Given the description of an element on the screen output the (x, y) to click on. 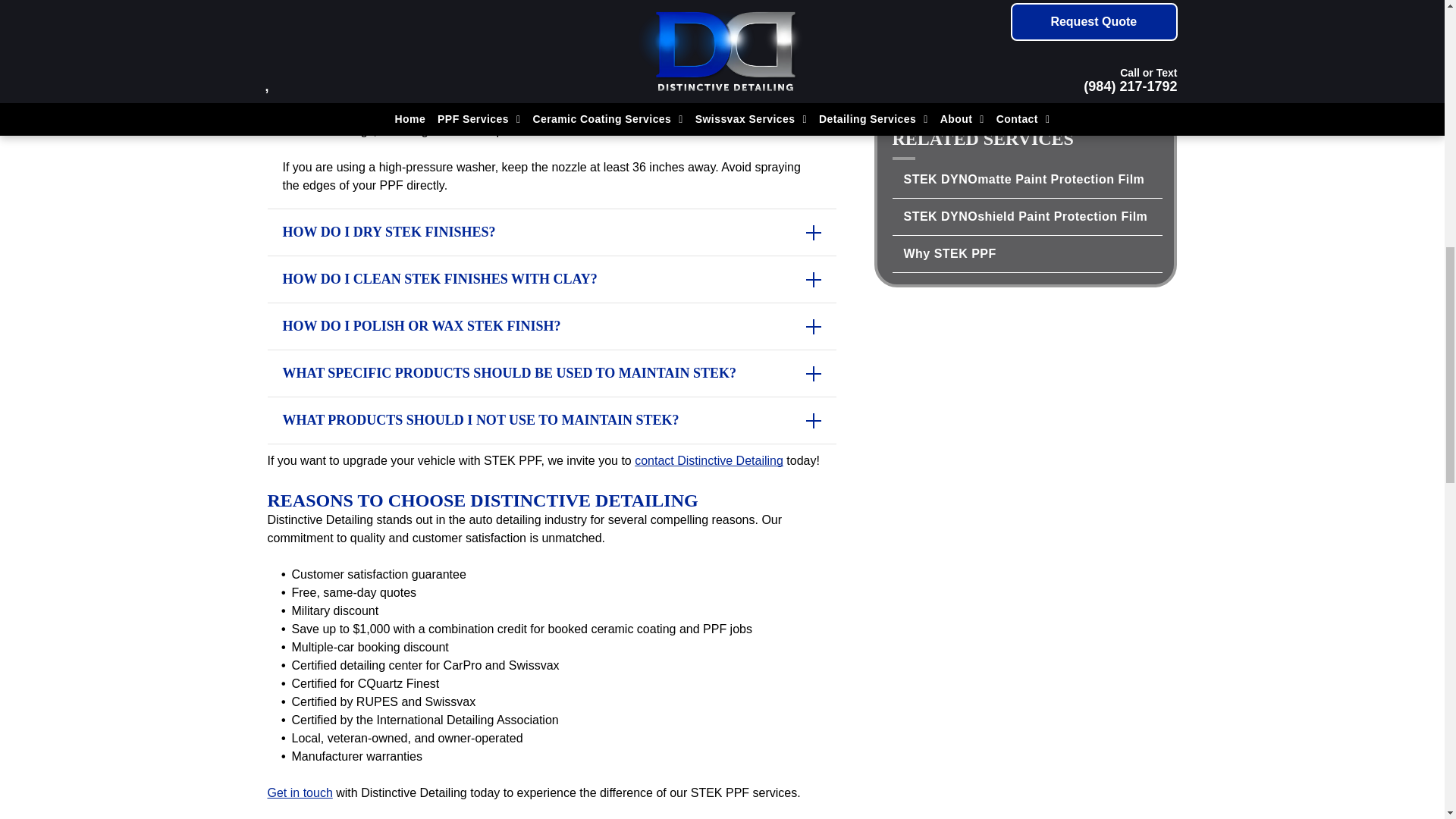
STEK DYNOshield Paint Protection Film (1026, 217)
STEK DYNOmatte Paint Protection Film (1026, 179)
Get in touch (298, 792)
call-or-text-pop (1024, 44)
contact Distinctive Detailing (708, 460)
Why STEK PPF (1026, 253)
